Given the description of an element on the screen output the (x, y) to click on. 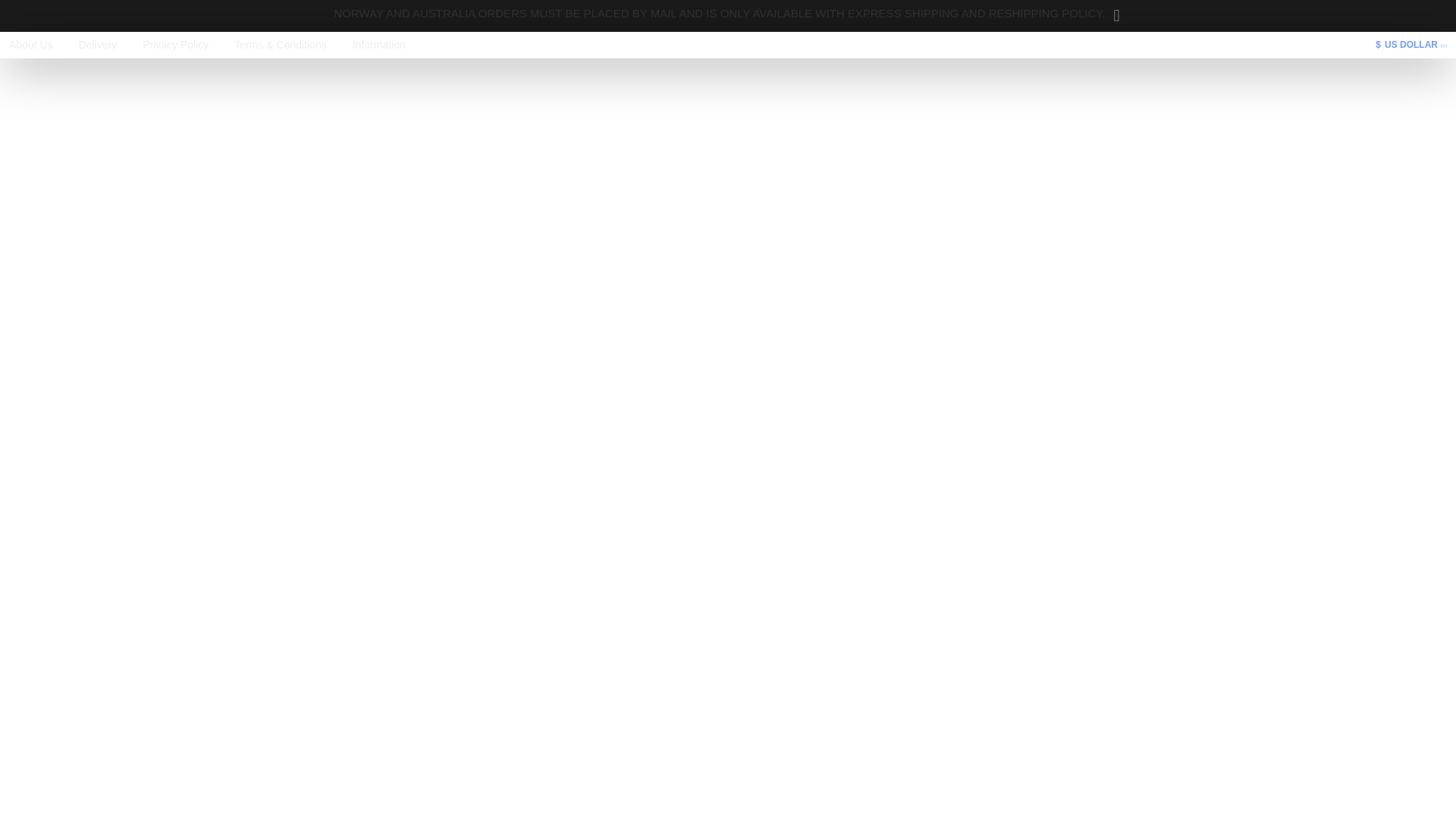
Privacy Policy (175, 44)
About Us (31, 44)
Delivery (98, 44)
Information (378, 44)
